Given the description of an element on the screen output the (x, y) to click on. 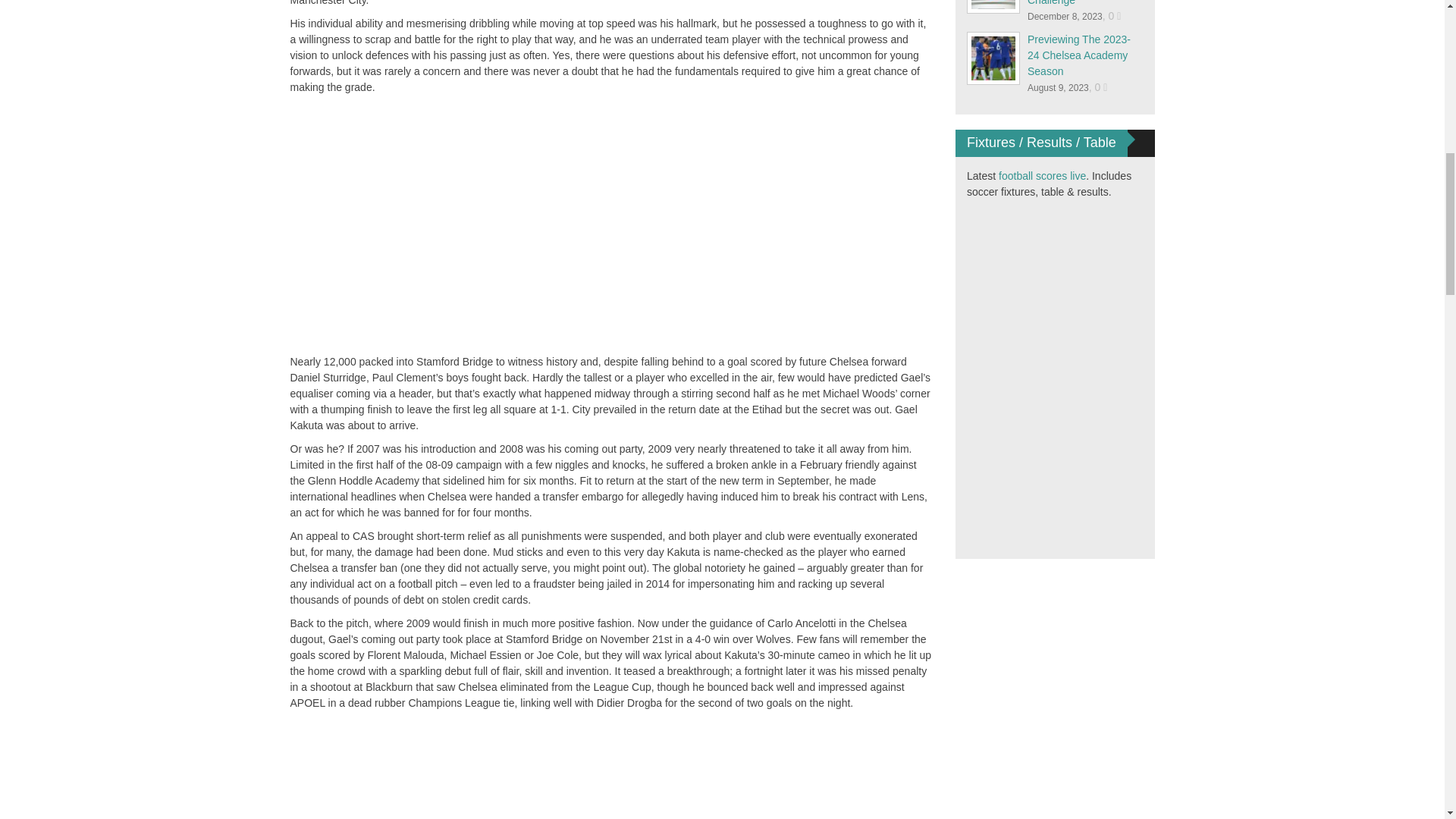
YouTube video player (501, 222)
